Given the description of an element on the screen output the (x, y) to click on. 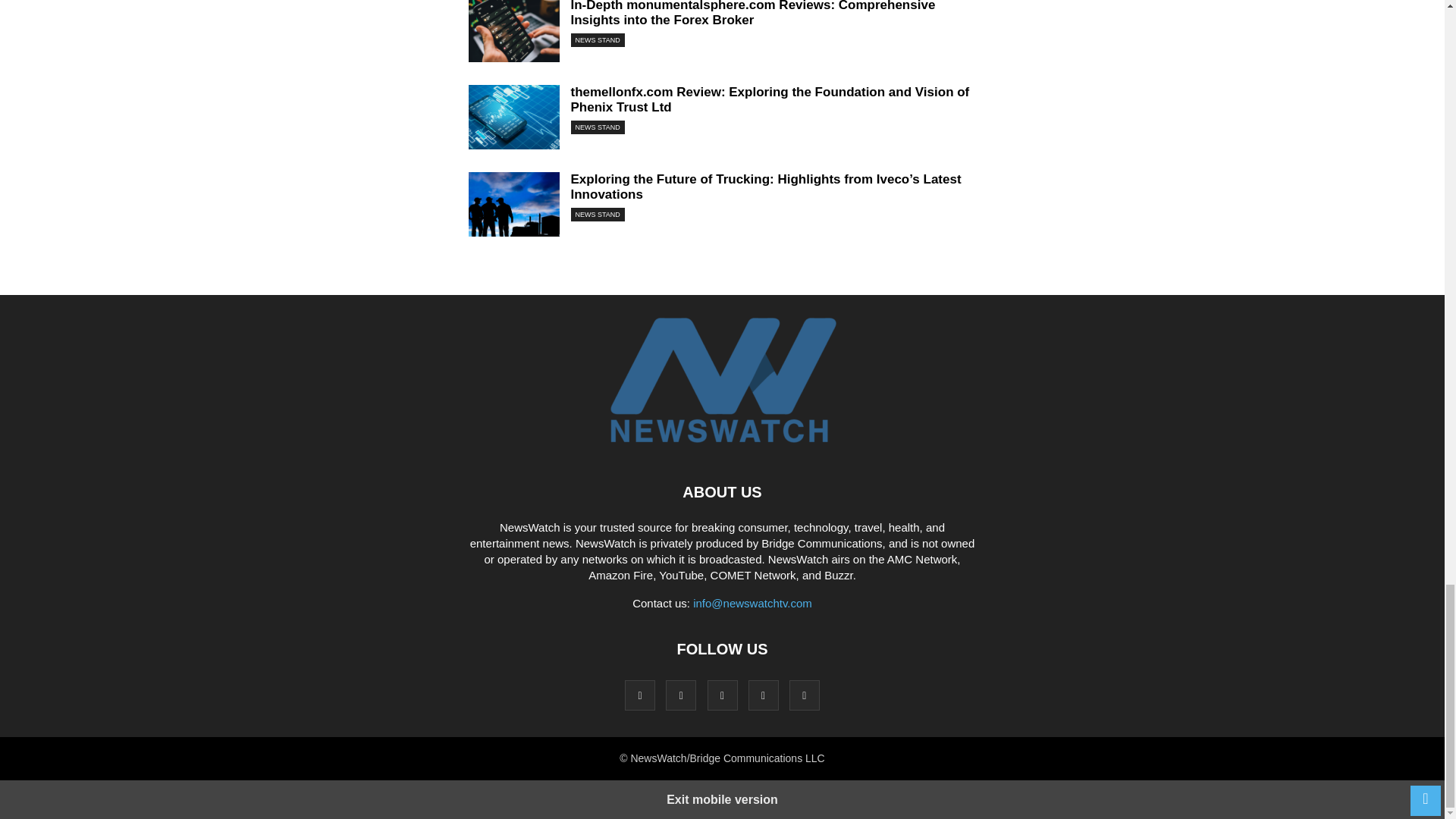
NEWS STAND (597, 127)
NEWS STAND (597, 214)
NEWS STAND (597, 39)
